Given the description of an element on the screen output the (x, y) to click on. 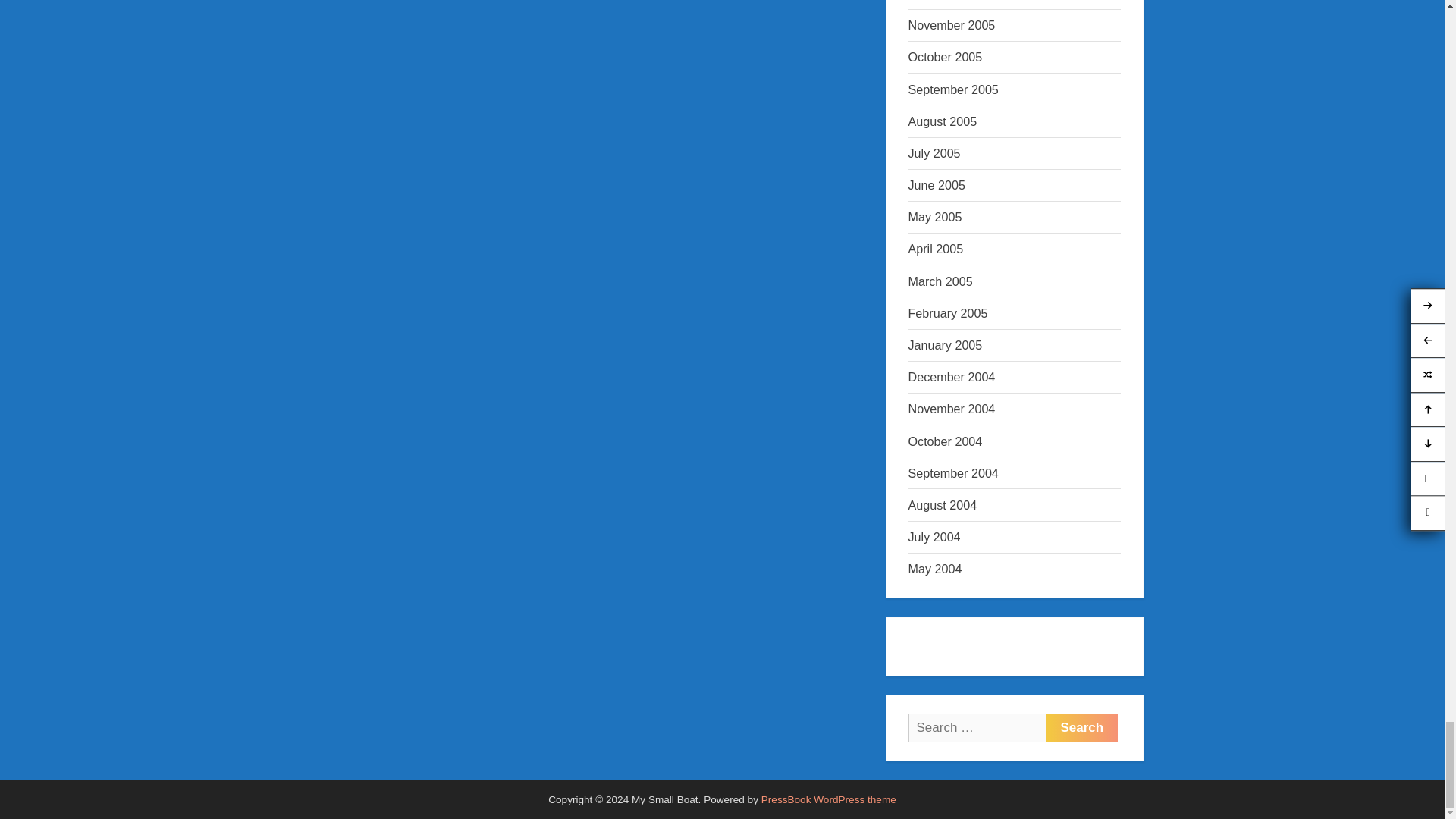
Search (1082, 727)
Search (1082, 727)
